Given the description of an element on the screen output the (x, y) to click on. 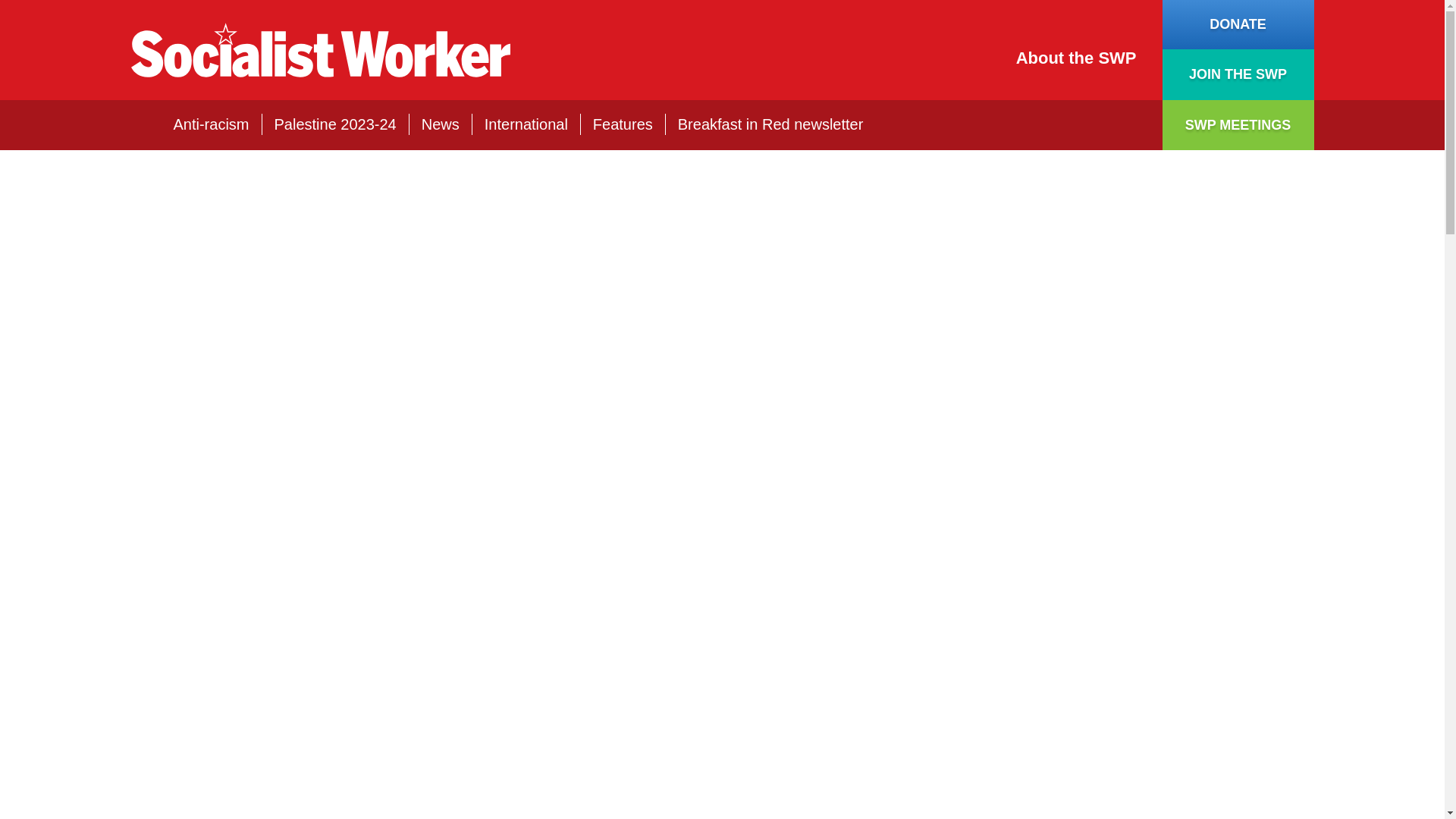
About the SWP (1076, 57)
Palestine 2023-24 (335, 124)
News (441, 124)
SWP MEETINGS (1237, 124)
DONATE (1237, 24)
International (525, 124)
Breakfast in Red newsletter (770, 124)
About the SWP (1076, 57)
JOIN THE SWP (1237, 74)
Search Button (1123, 124)
